Given the description of an element on the screen output the (x, y) to click on. 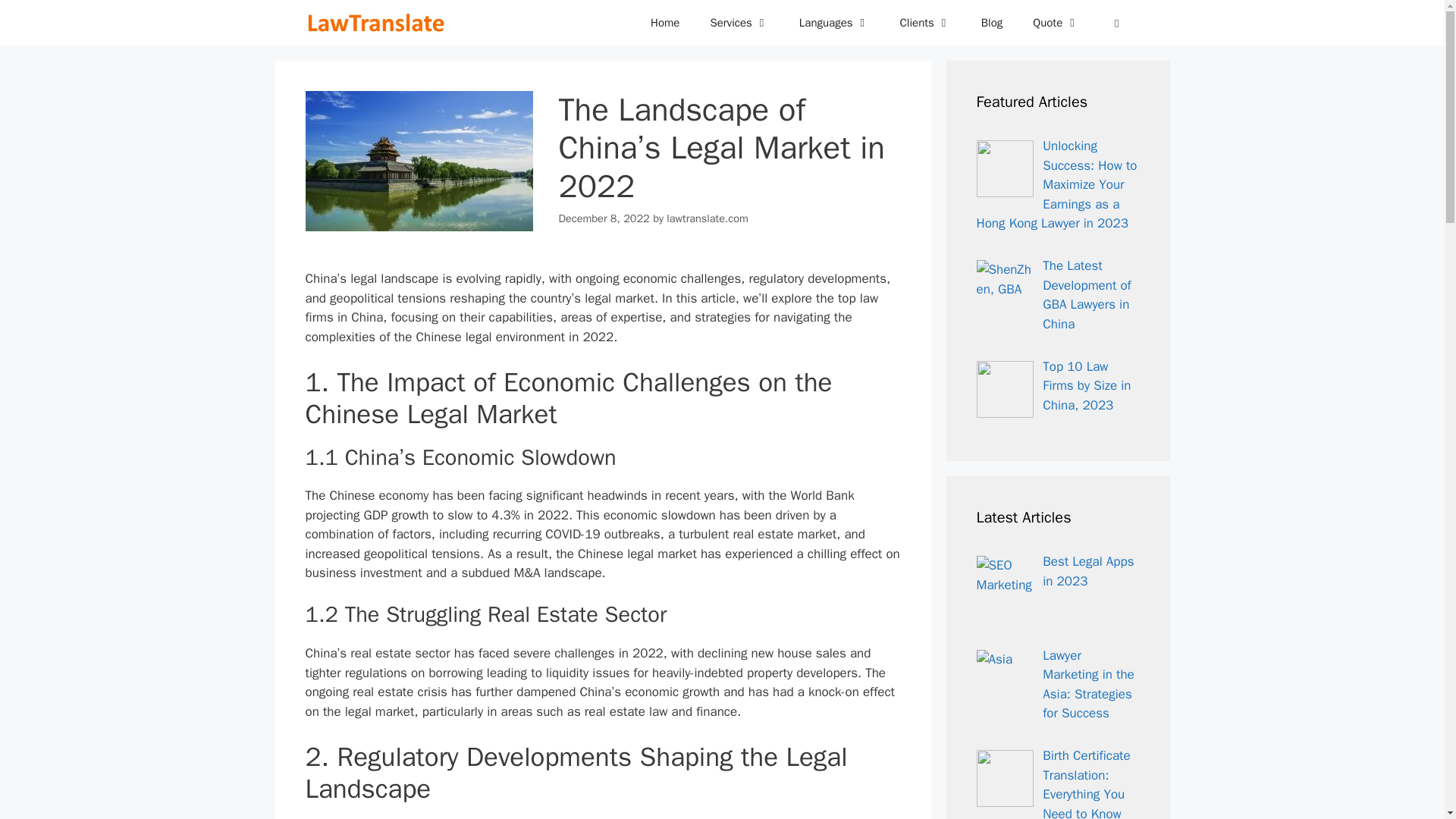
View all posts by lawtranslate.com (707, 218)
Home (664, 22)
Services (738, 22)
Languages (834, 22)
